Given the description of an element on the screen output the (x, y) to click on. 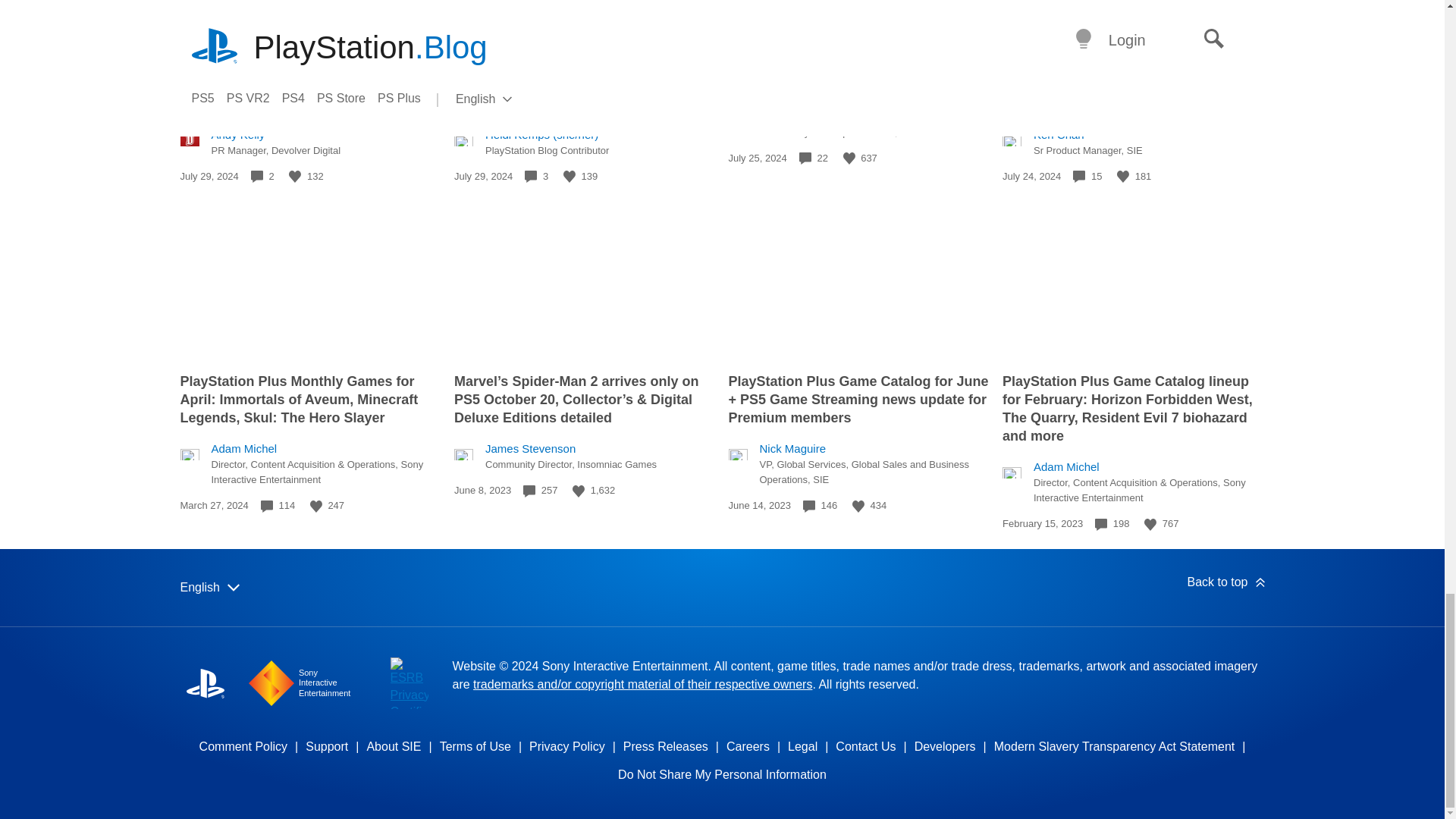
Like this (294, 176)
Like this (315, 506)
Like this (849, 158)
Like this (569, 176)
Like this (1122, 176)
